Given the description of an element on the screen output the (x, y) to click on. 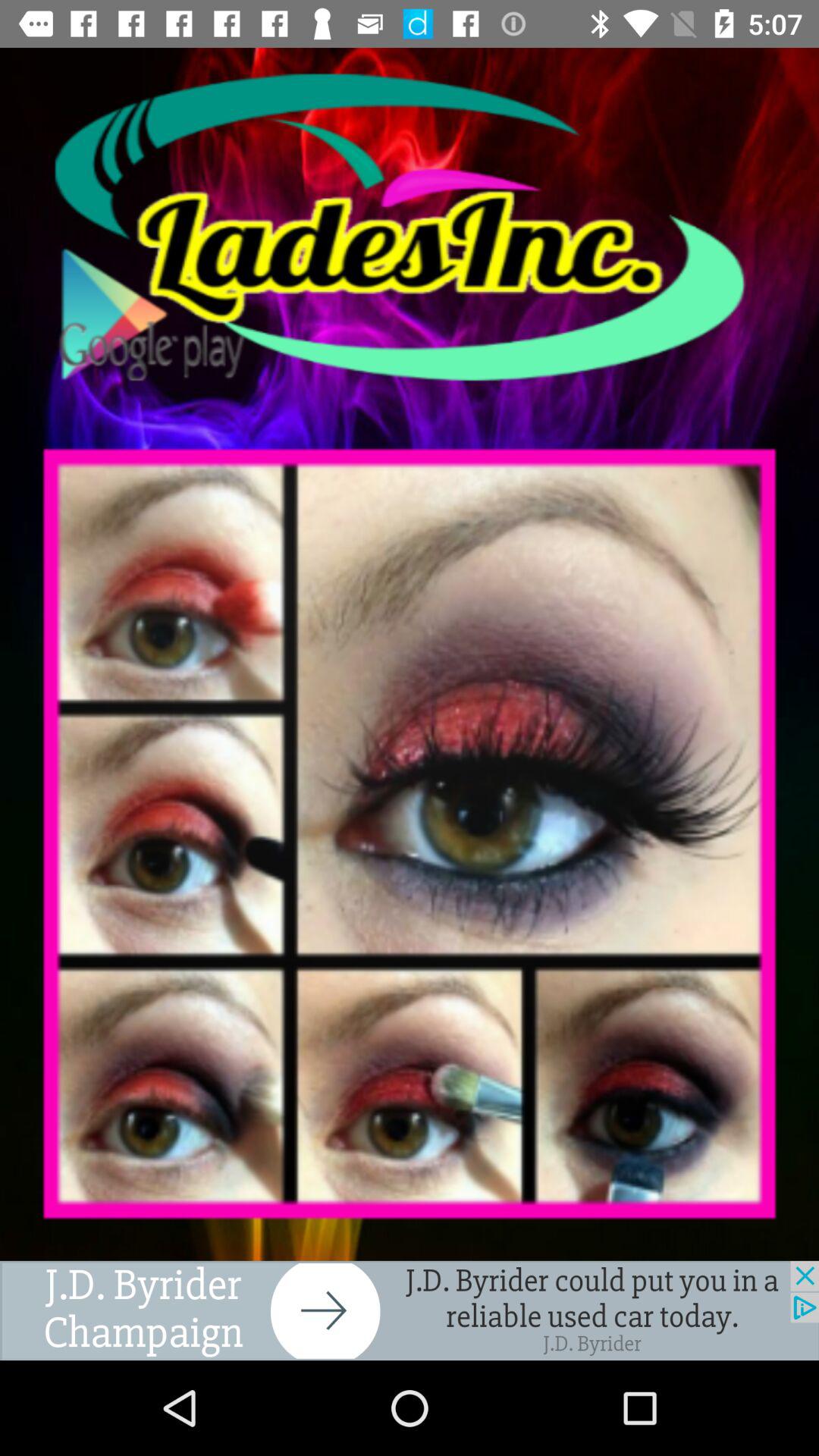
go to home page (409, 226)
